Given the description of an element on the screen output the (x, y) to click on. 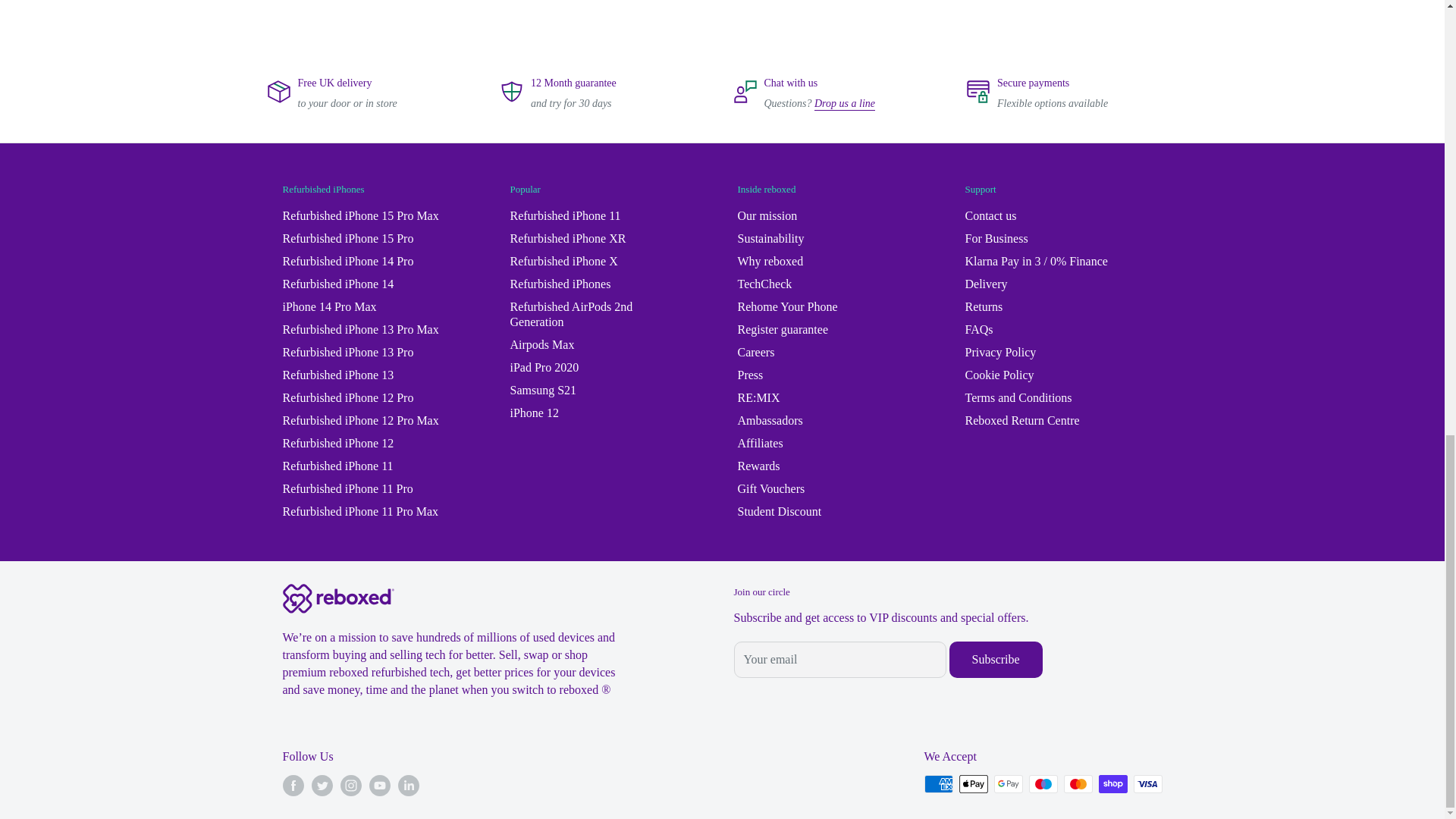
Contact Us (844, 102)
